Given the description of an element on the screen output the (x, y) to click on. 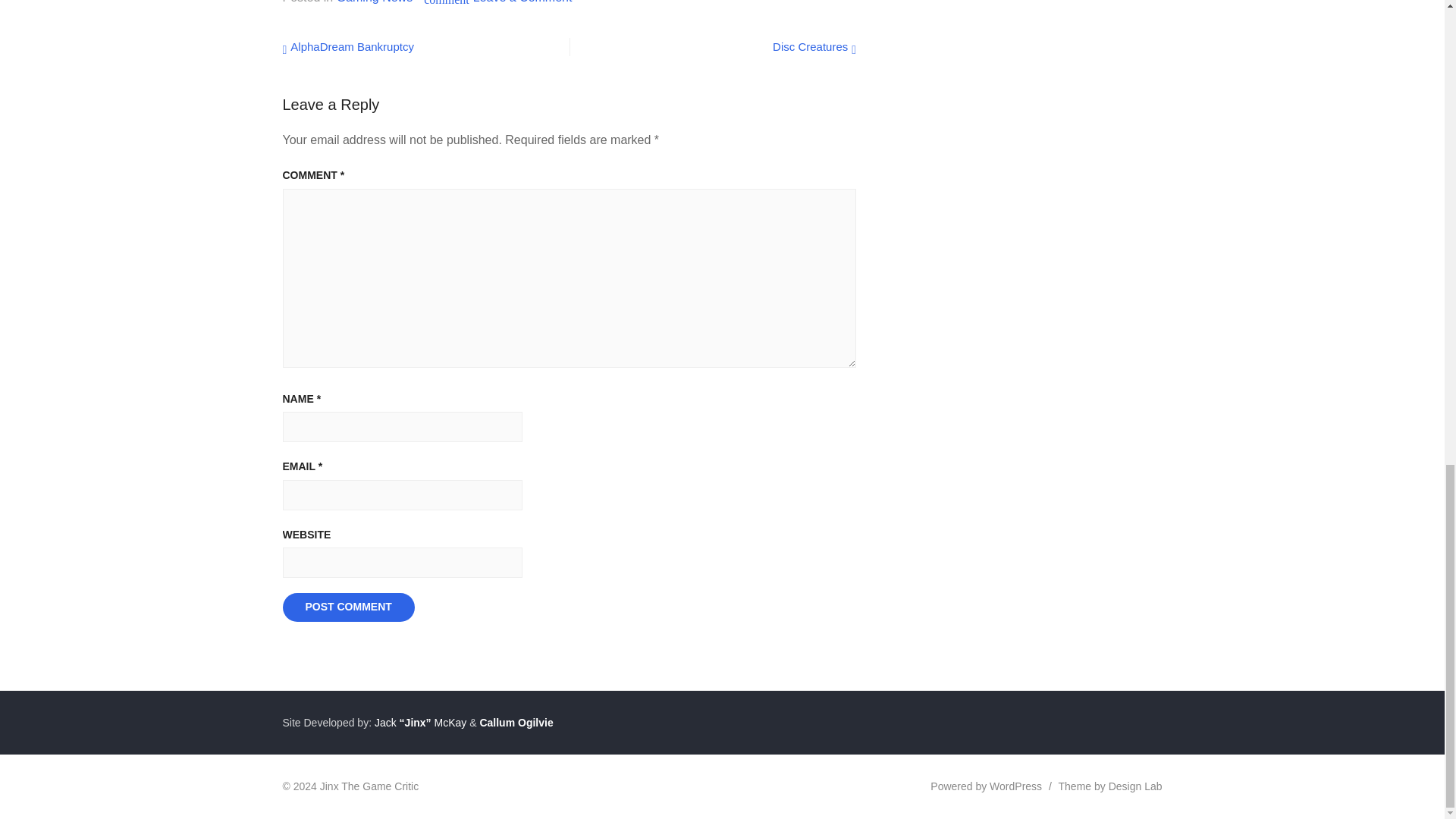
Jack (383, 722)
AlphaDream Bankruptcy (347, 46)
Powered by WordPress (522, 2)
Disc Creatures (986, 786)
Theme by Design Lab (814, 46)
Post Comment (1109, 786)
Gaming News (347, 606)
Callum Ogilvie (374, 2)
Post Comment (516, 722)
